Given the description of an element on the screen output the (x, y) to click on. 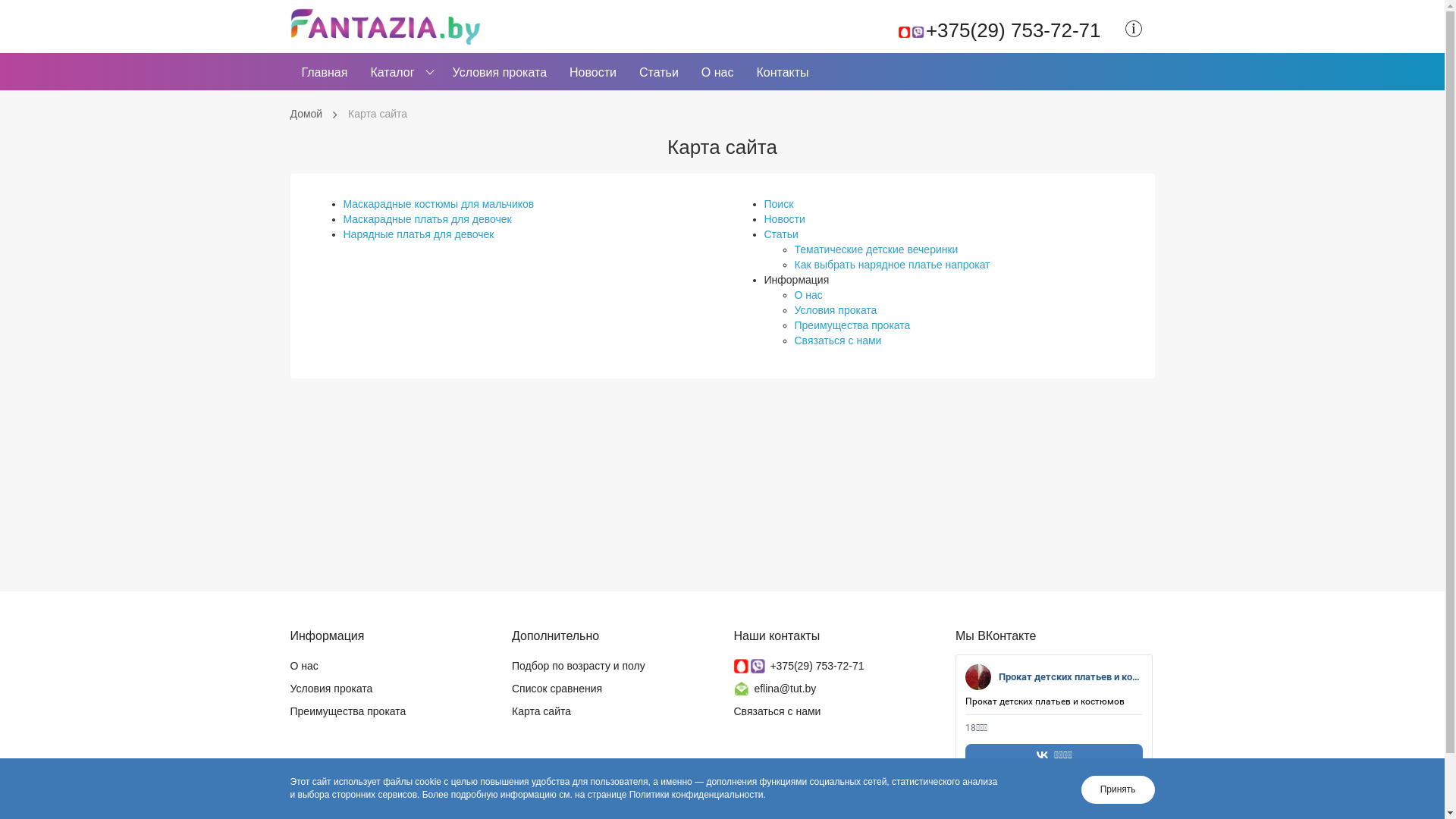
+375(29) 753-72-71 Element type: text (799, 665)
+375(29) 753-72-71 Element type: text (999, 26)
eflina@tut.by Element type: text (775, 688)
